Given the description of an element on the screen output the (x, y) to click on. 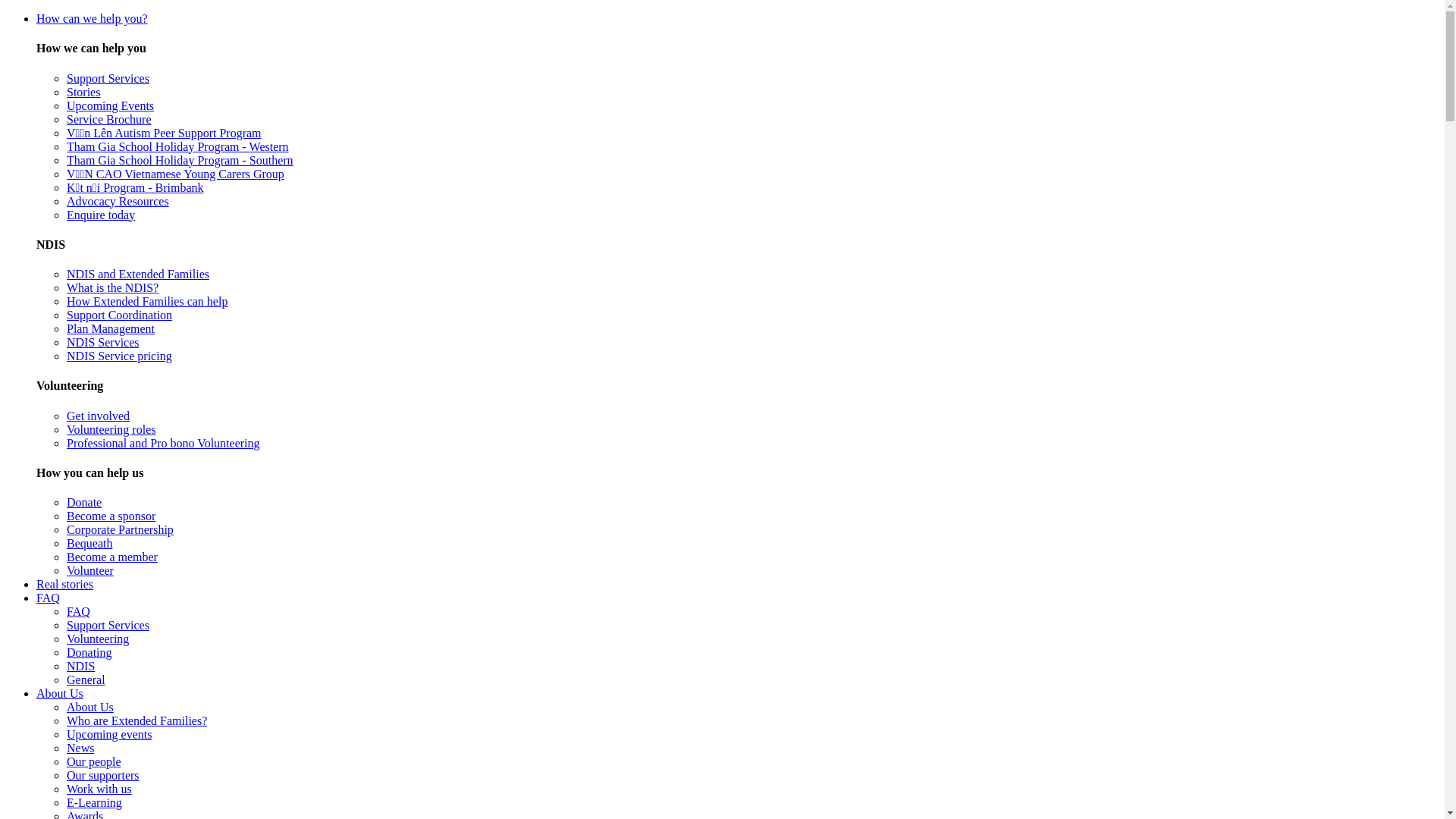
Volunteering Element type: text (97, 638)
FAQ Element type: text (47, 597)
NDIS and Extended Families Element type: text (137, 273)
NDIS Services Element type: text (102, 341)
Tham Gia School Holiday Program - Western Element type: text (177, 146)
Support Services Element type: text (107, 624)
Tham Gia School Holiday Program - Southern Element type: text (179, 159)
Support Services Element type: text (107, 78)
Volunteering roles Element type: text (110, 429)
Upcoming events Element type: text (108, 734)
Who are Extended Families? Element type: text (136, 720)
How can we help you? Element type: text (91, 18)
FAQ Element type: text (78, 611)
E-Learning Element type: text (94, 802)
Work with us Element type: text (98, 788)
Donating Element type: text (89, 652)
About Us Element type: text (89, 706)
Professional and Pro bono Volunteering Element type: text (163, 442)
Get involved Element type: text (97, 415)
Volunteer Element type: text (89, 570)
Our people Element type: text (93, 761)
Advocacy Resources Element type: text (117, 200)
Become a sponsor Element type: text (110, 515)
About Us Element type: text (59, 693)
Corporate Partnership Element type: text (119, 529)
NDIS Service pricing Element type: text (119, 355)
Plan Management Element type: text (110, 328)
What is the NDIS? Element type: text (112, 287)
News Element type: text (80, 747)
Service Brochure Element type: text (108, 118)
Stories Element type: text (83, 91)
NDIS Element type: text (80, 665)
Donate Element type: text (83, 501)
Become a member Element type: text (111, 556)
Enquire today Element type: text (100, 214)
How Extended Families can help Element type: text (146, 300)
Upcoming Events Element type: text (109, 105)
Real stories Element type: text (64, 583)
Support Coordination Element type: text (119, 314)
Bequeath Element type: text (89, 542)
Our supporters Element type: text (102, 774)
General Element type: text (85, 679)
